Given the description of an element on the screen output the (x, y) to click on. 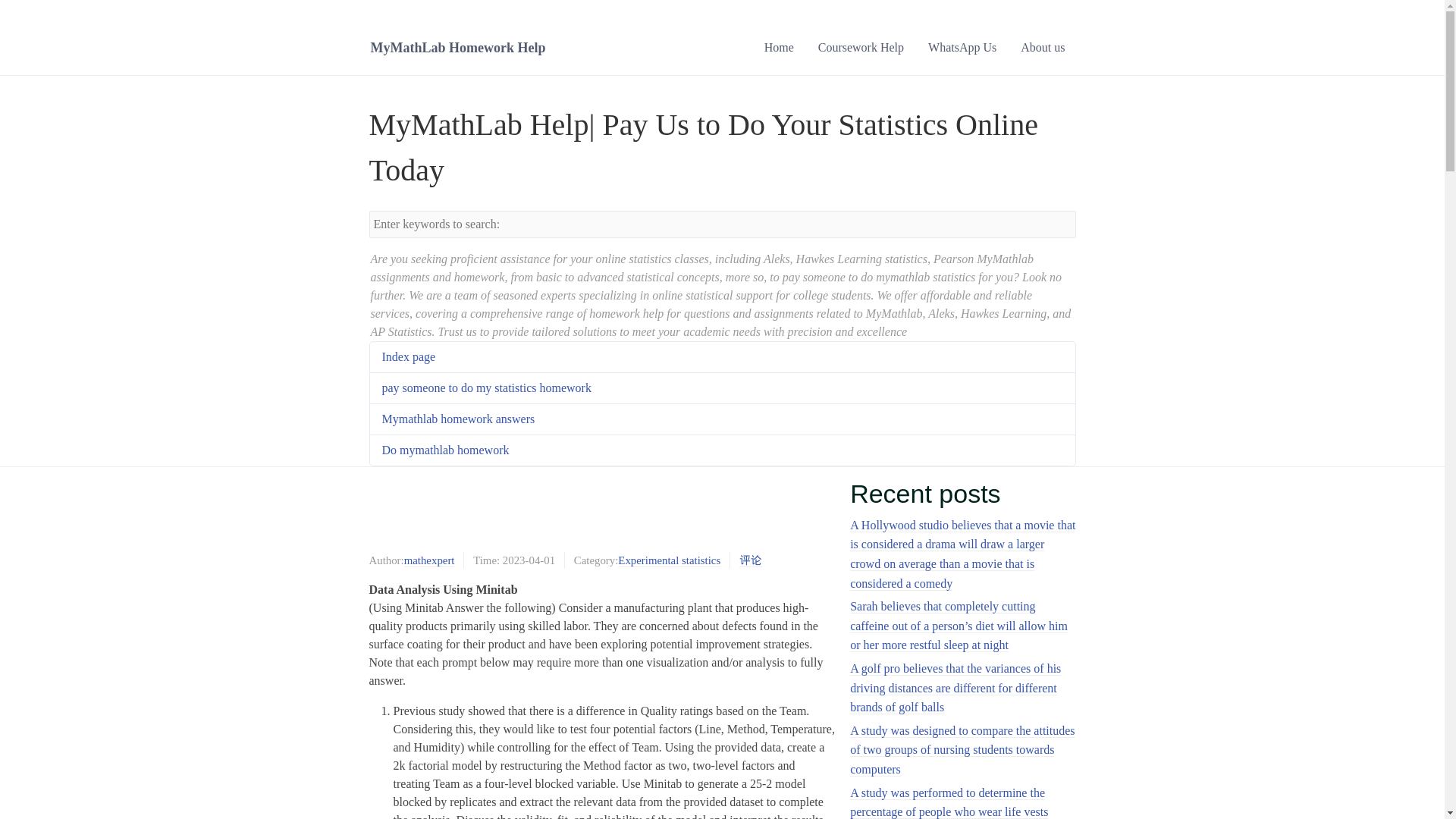
About us (1042, 47)
Index page (408, 357)
Mymathlab homework answers (458, 419)
pay someone to do my statistics homework (486, 388)
WhatsApp Us (962, 47)
search (1062, 221)
Do mymathlab homework (445, 450)
Mymathlab homework answers (458, 419)
Home (779, 47)
Experimental statistics (668, 560)
MyMathLab Homework Help (456, 47)
Do mymathlab homework (445, 450)
pay someone to do my statistics homework (486, 388)
mathexpert (429, 560)
